Given the description of an element on the screen output the (x, y) to click on. 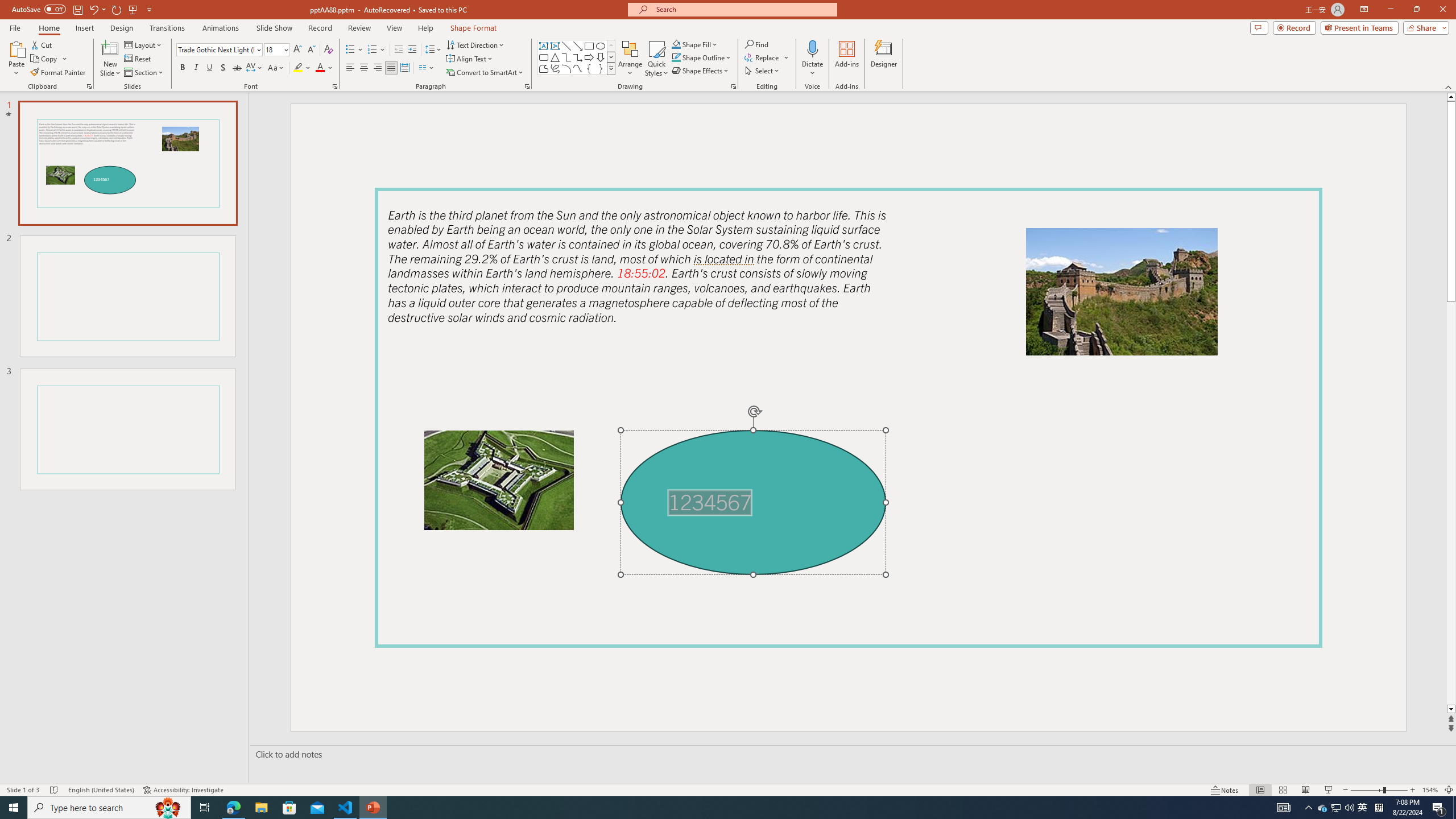
Shape Fill Aqua, Accent 2 (675, 44)
